Given the description of an element on the screen output the (x, y) to click on. 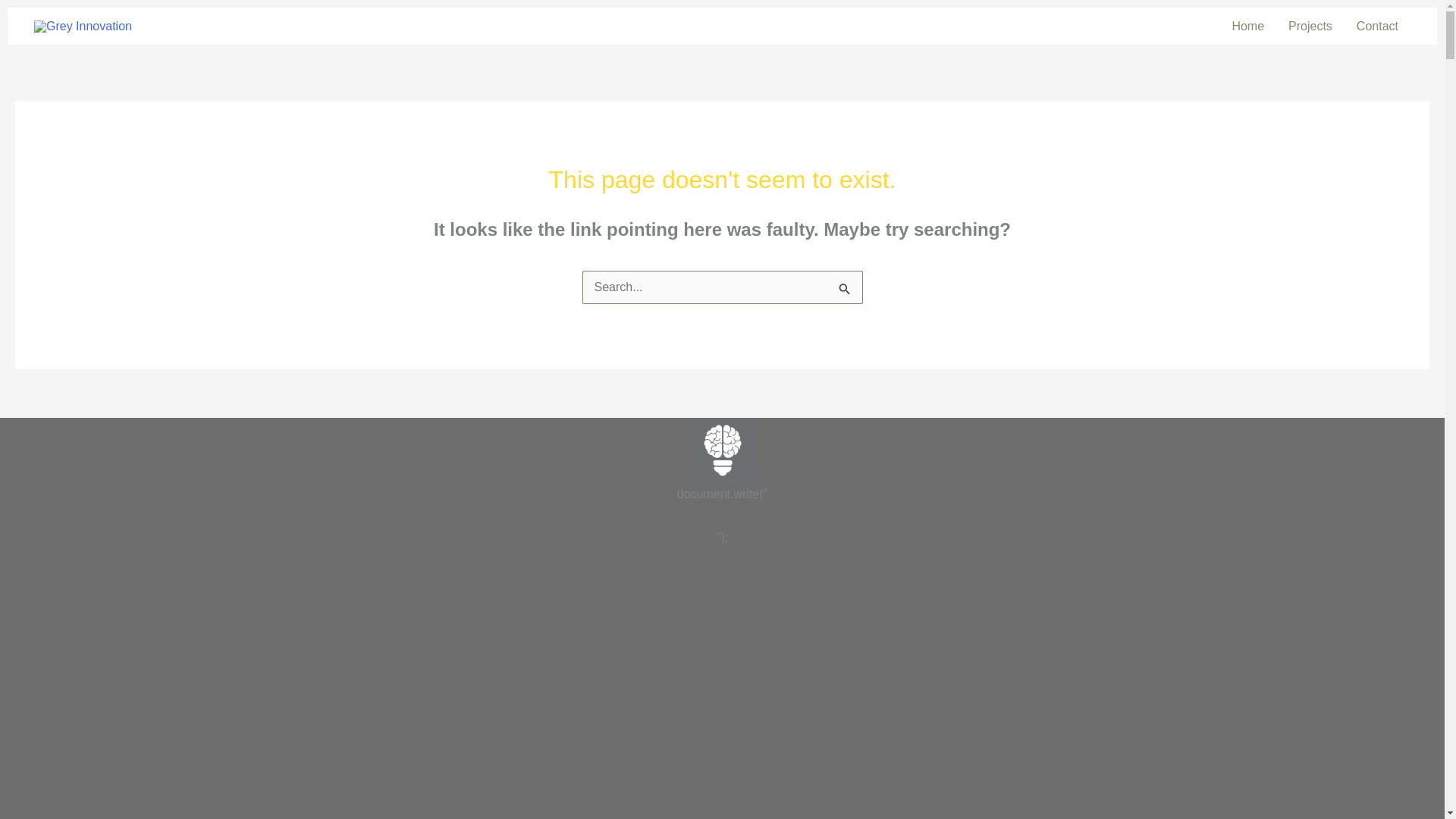
Home (1248, 26)
Projects (1309, 26)
Contact (1376, 26)
